Given the description of an element on the screen output the (x, y) to click on. 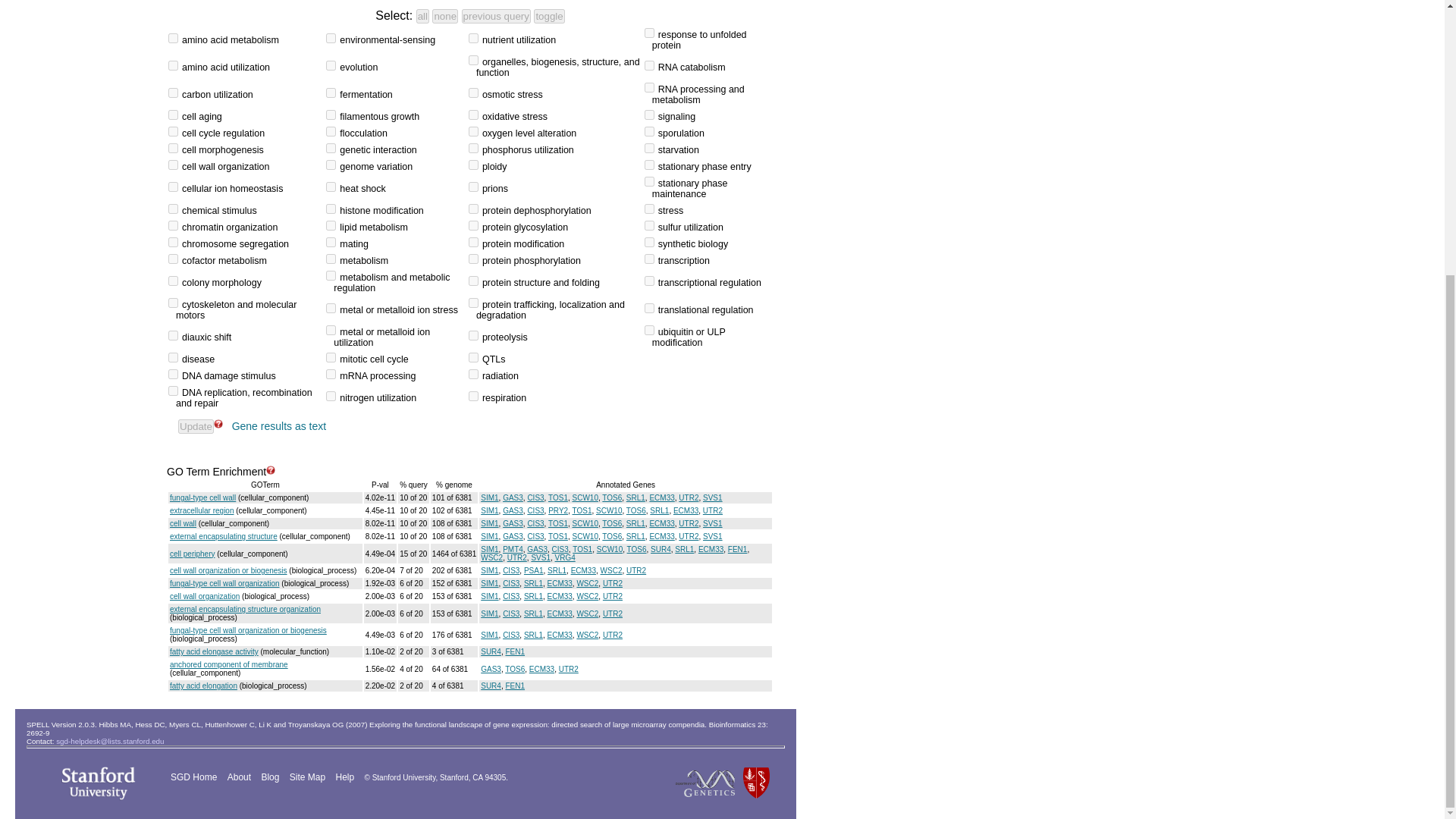
nutrient utilization (473, 38)
organelles, biogenesis, structure, and function (473, 60)
previous query (496, 16)
RNA catabolism (649, 65)
none (445, 16)
environmental-sensing (331, 38)
toggle (549, 16)
osmotic stress (473, 92)
response to unfolded protein (649, 32)
carbon utilization (172, 92)
amino acid metabolism (172, 38)
filamentous growth (331, 114)
cell aging (172, 114)
fermentation (331, 92)
evolution (331, 65)
